Given the description of an element on the screen output the (x, y) to click on. 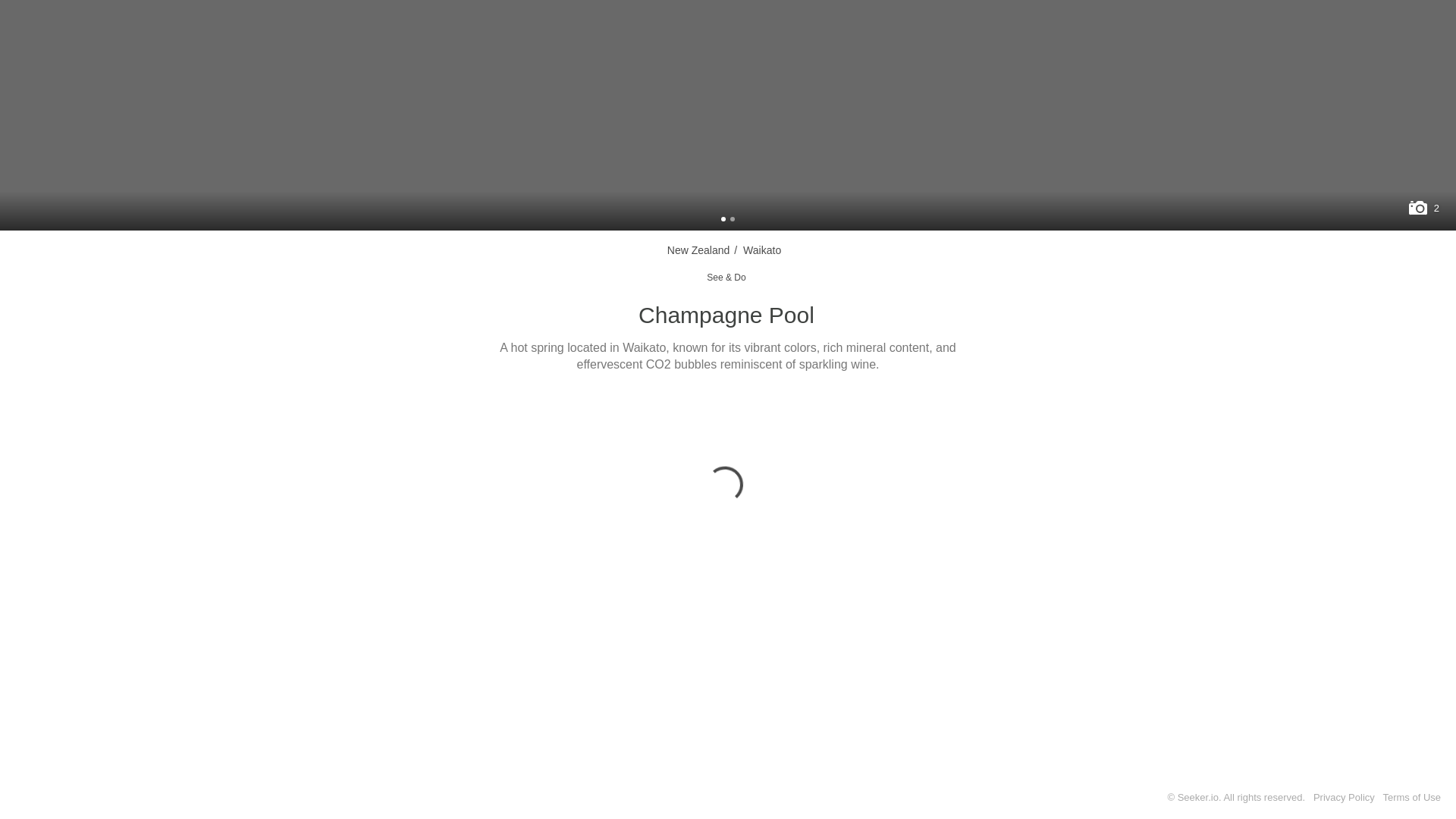
Route (652, 403)
Terms of Use (1411, 797)
Save (777, 403)
2 (1423, 207)
New Zealand (698, 250)
Privacy Policy (1343, 797)
Waikato (761, 250)
